Given the description of an element on the screen output the (x, y) to click on. 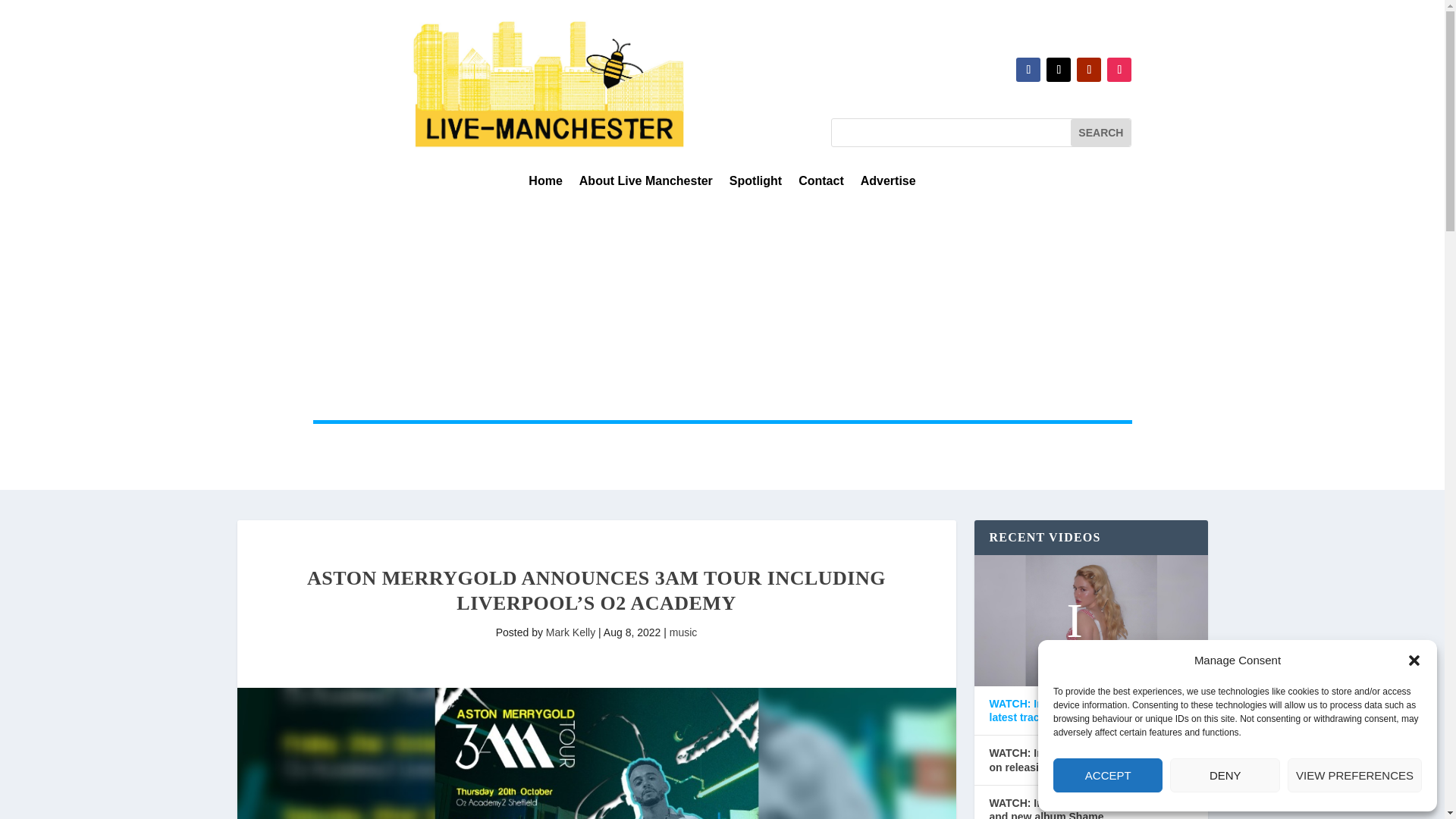
ACCEPT (1106, 775)
Posts by Mark Kelly (570, 632)
Contact (820, 184)
Follow on Youtube (1088, 69)
VIEW PREFERENCES (1354, 775)
Advertise (887, 184)
Follow on X (1058, 69)
Search (1100, 132)
DENY (1224, 775)
About Live Manchester (646, 184)
